Given the description of an element on the screen output the (x, y) to click on. 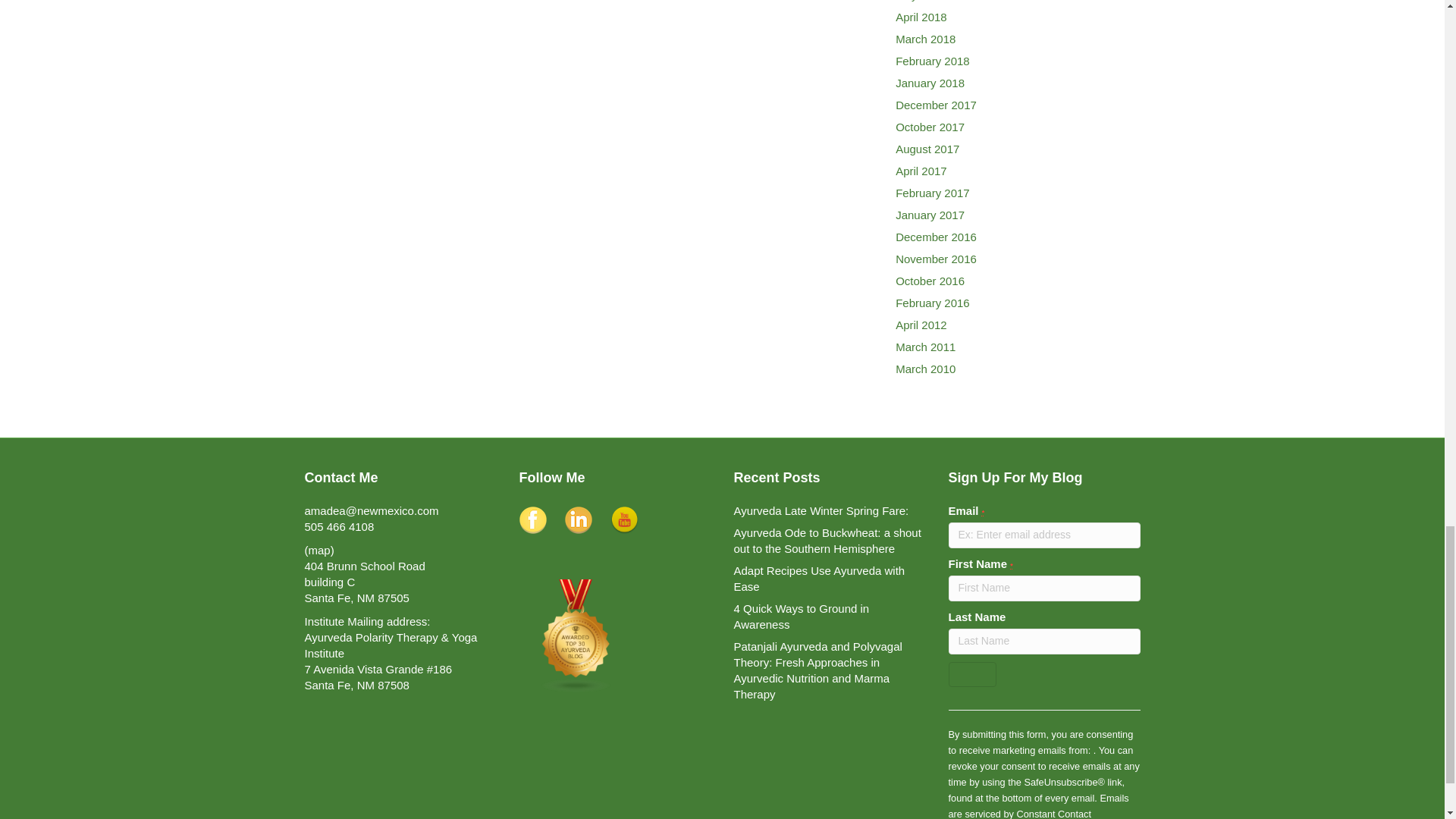
required (983, 512)
Ayurveda blogs (574, 634)
Send (971, 674)
